Given the description of an element on the screen output the (x, y) to click on. 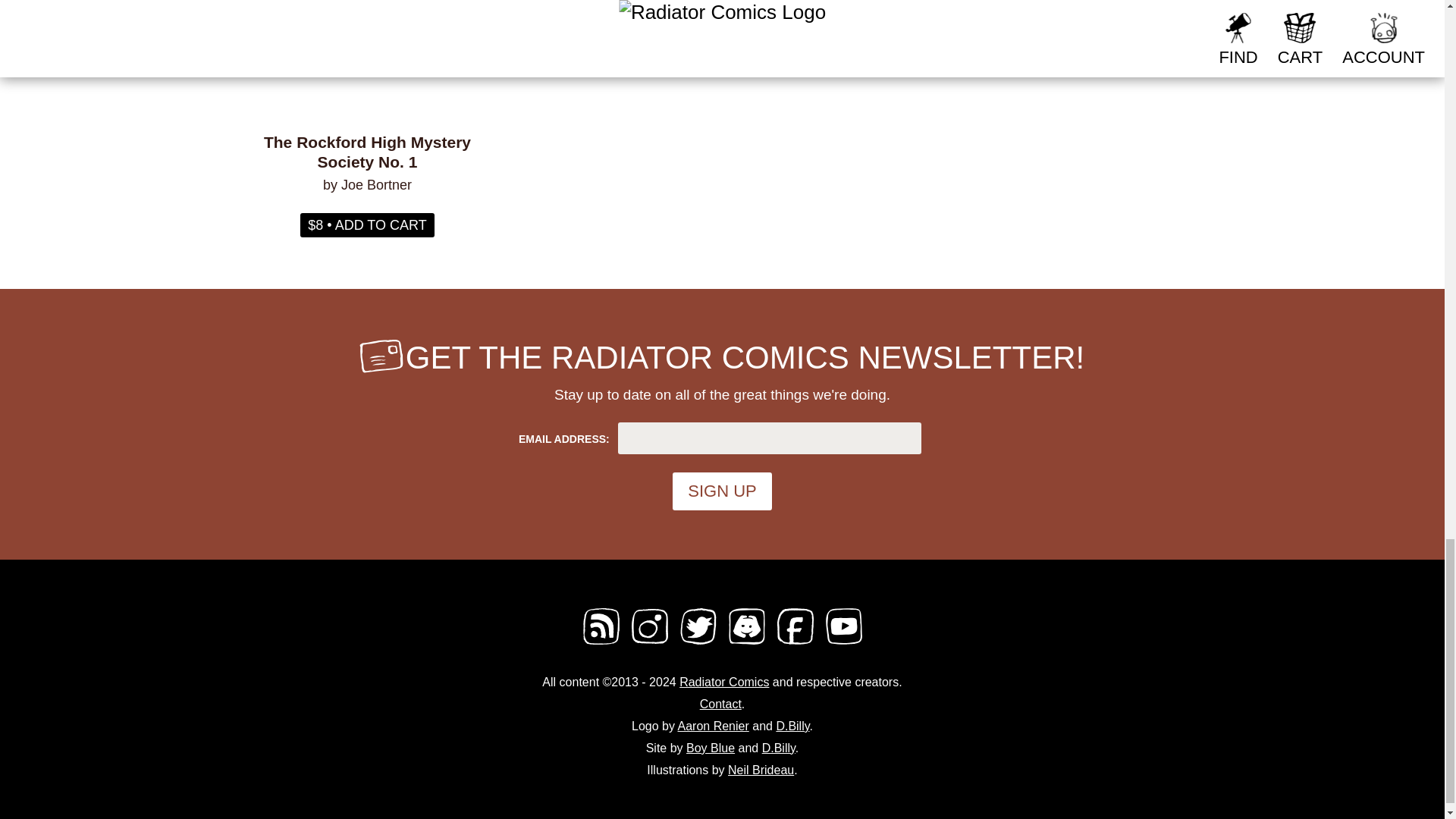
Sign up (721, 491)
